Given the description of an element on the screen output the (x, y) to click on. 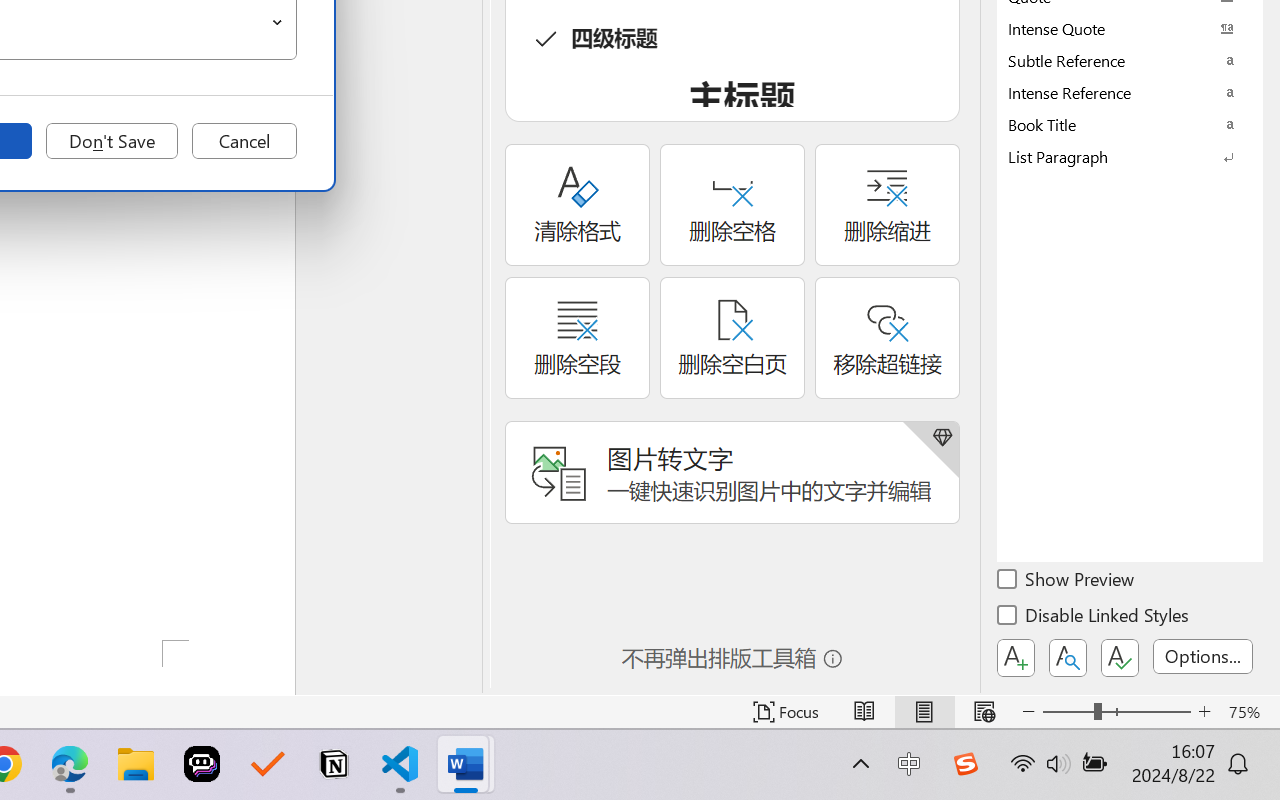
Read Mode (864, 712)
Disable Linked Styles (1094, 618)
Class: Image (965, 764)
